Given the description of an element on the screen output the (x, y) to click on. 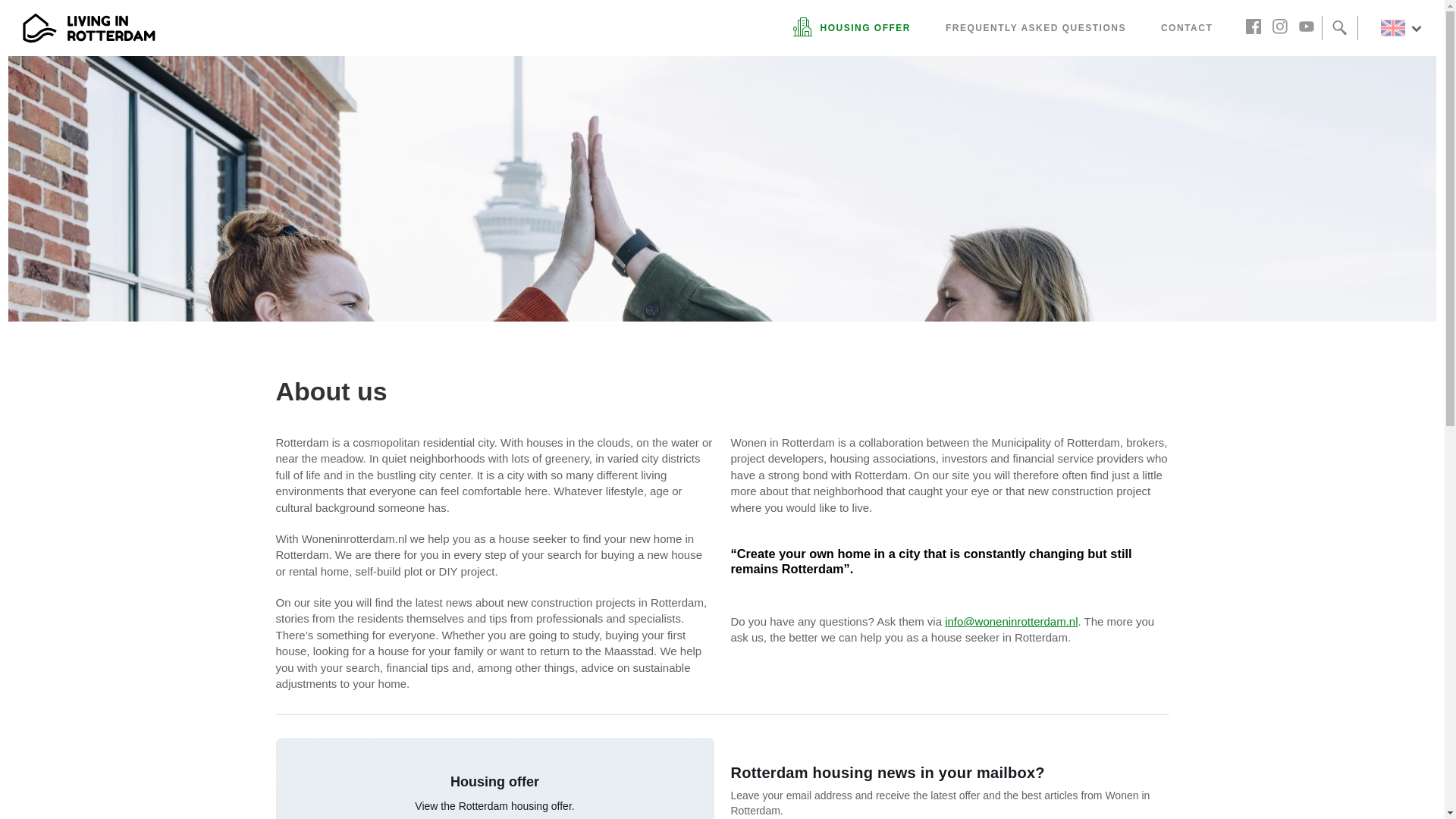
Wonen in Rotterdam (89, 28)
Frequently asked questions (1035, 27)
Youtube (1309, 26)
FREQUENTLY ASKED QUESTIONS (1035, 27)
Facebook (1257, 26)
Contact (1186, 27)
Instagram (1283, 26)
Housing Offer (860, 27)
Wonen in Rotterdam (89, 28)
CONTACT (1186, 27)
